Given the description of an element on the screen output the (x, y) to click on. 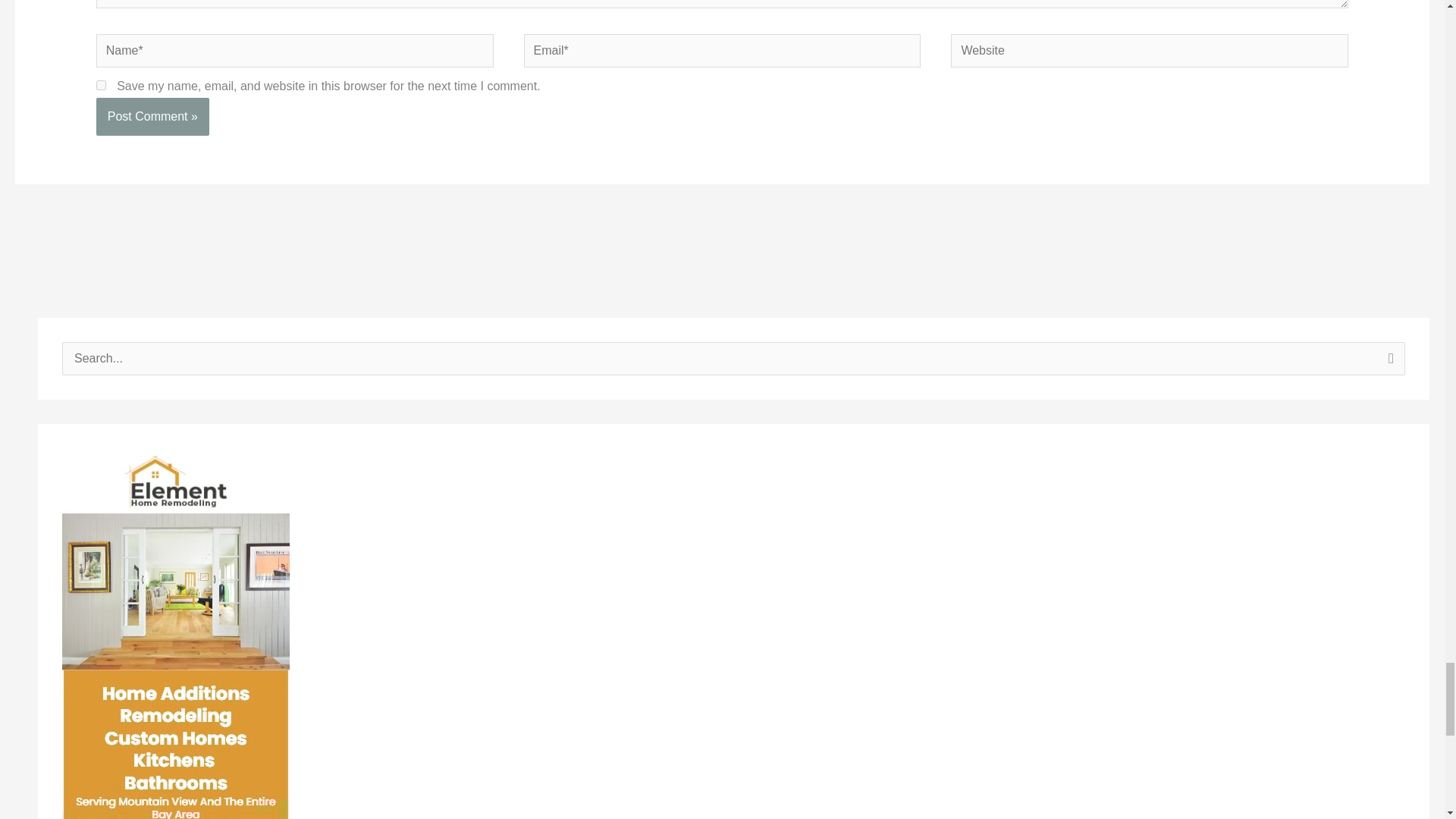
yes (101, 85)
